Given the description of an element on the screen output the (x, y) to click on. 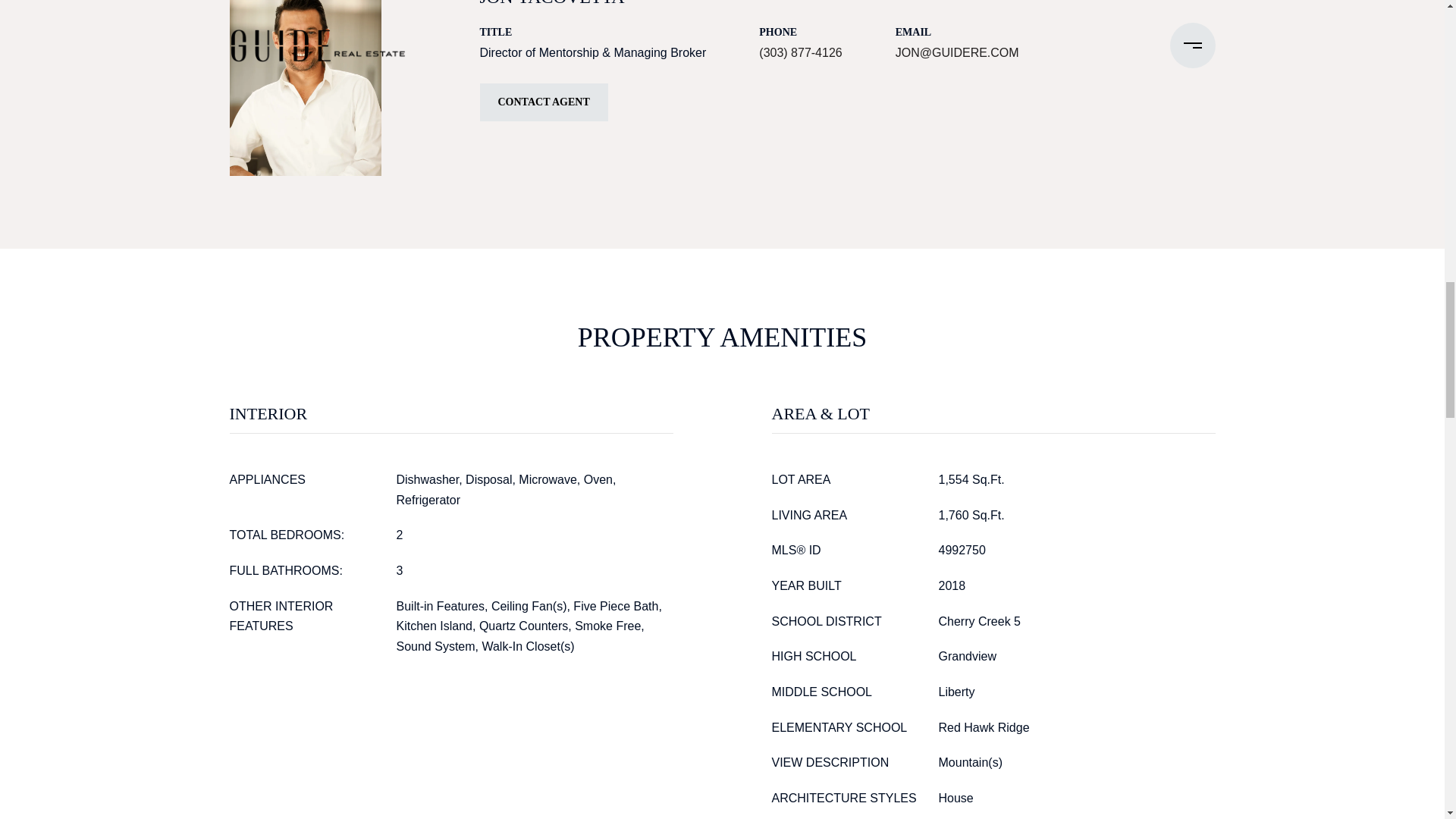
CONTACT AGENT (543, 102)
